Given the description of an element on the screen output the (x, y) to click on. 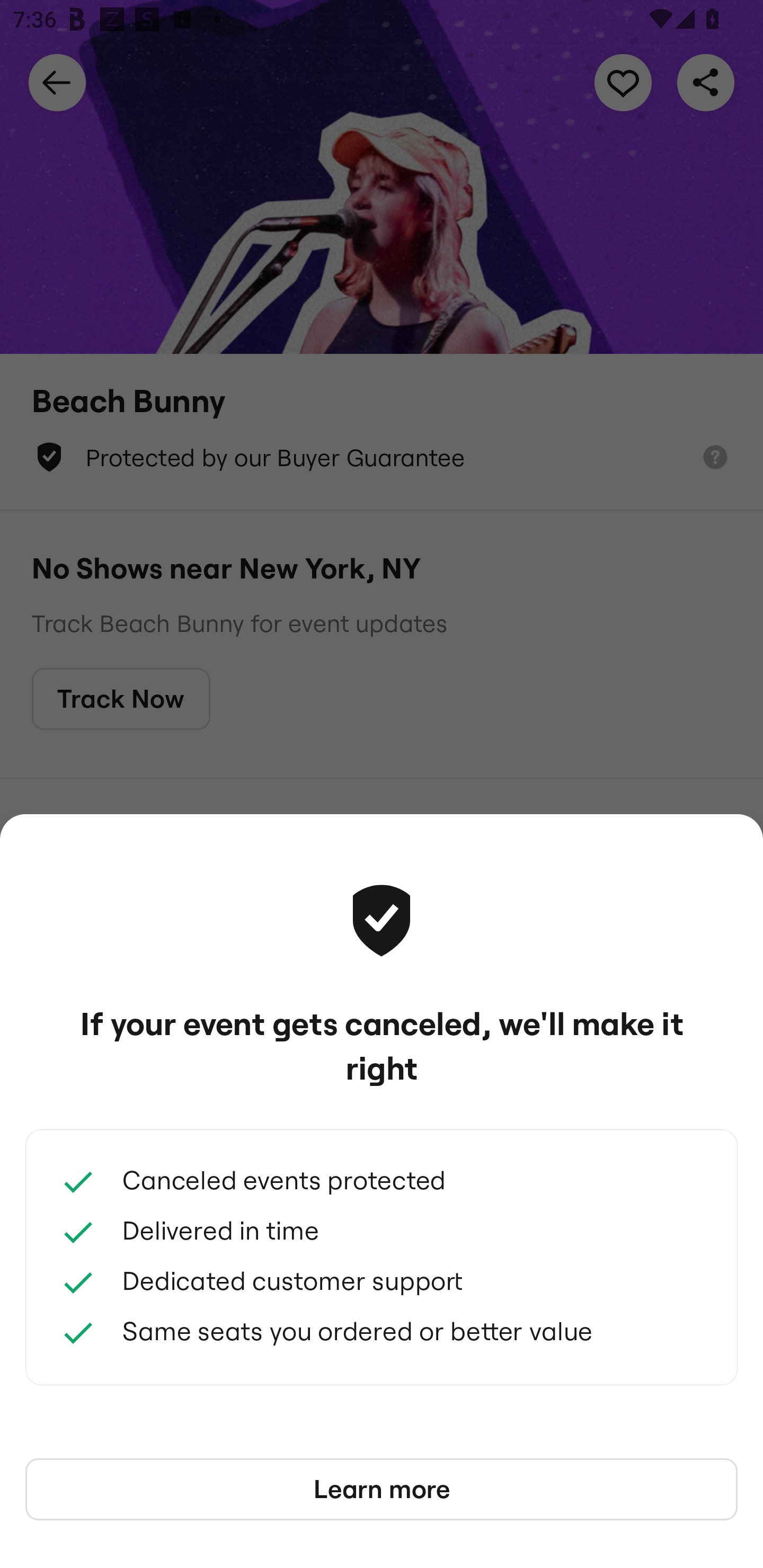
Learn more (381, 1489)
